Given the description of an element on the screen output the (x, y) to click on. 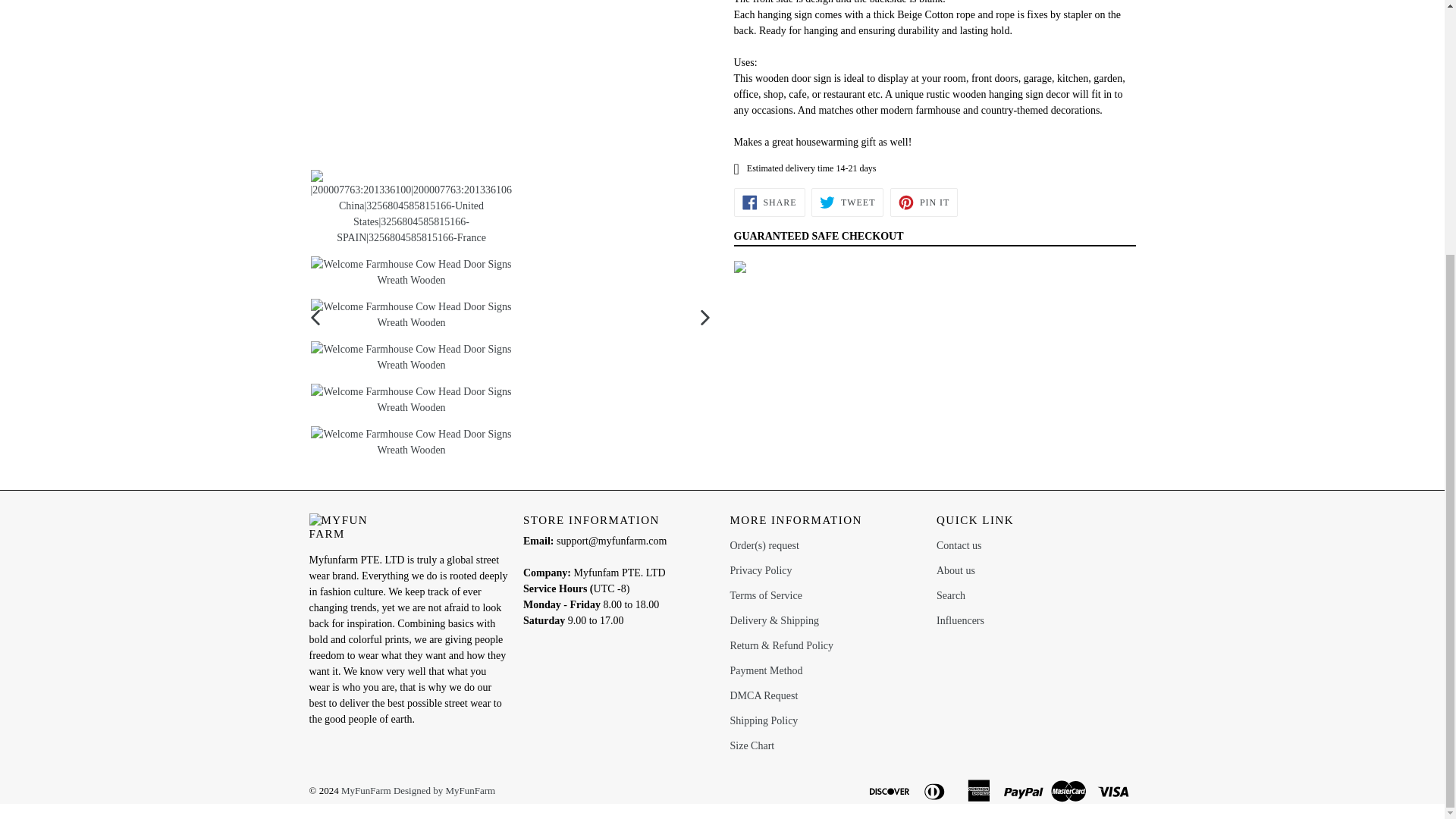
american express (980, 789)
Share on Facebook (769, 202)
Pin on Pinterest (923, 202)
Tweet on Twitter (846, 202)
diners club (935, 789)
paypal (1025, 789)
visa (1114, 789)
discover (890, 789)
